Given the description of an element on the screen output the (x, y) to click on. 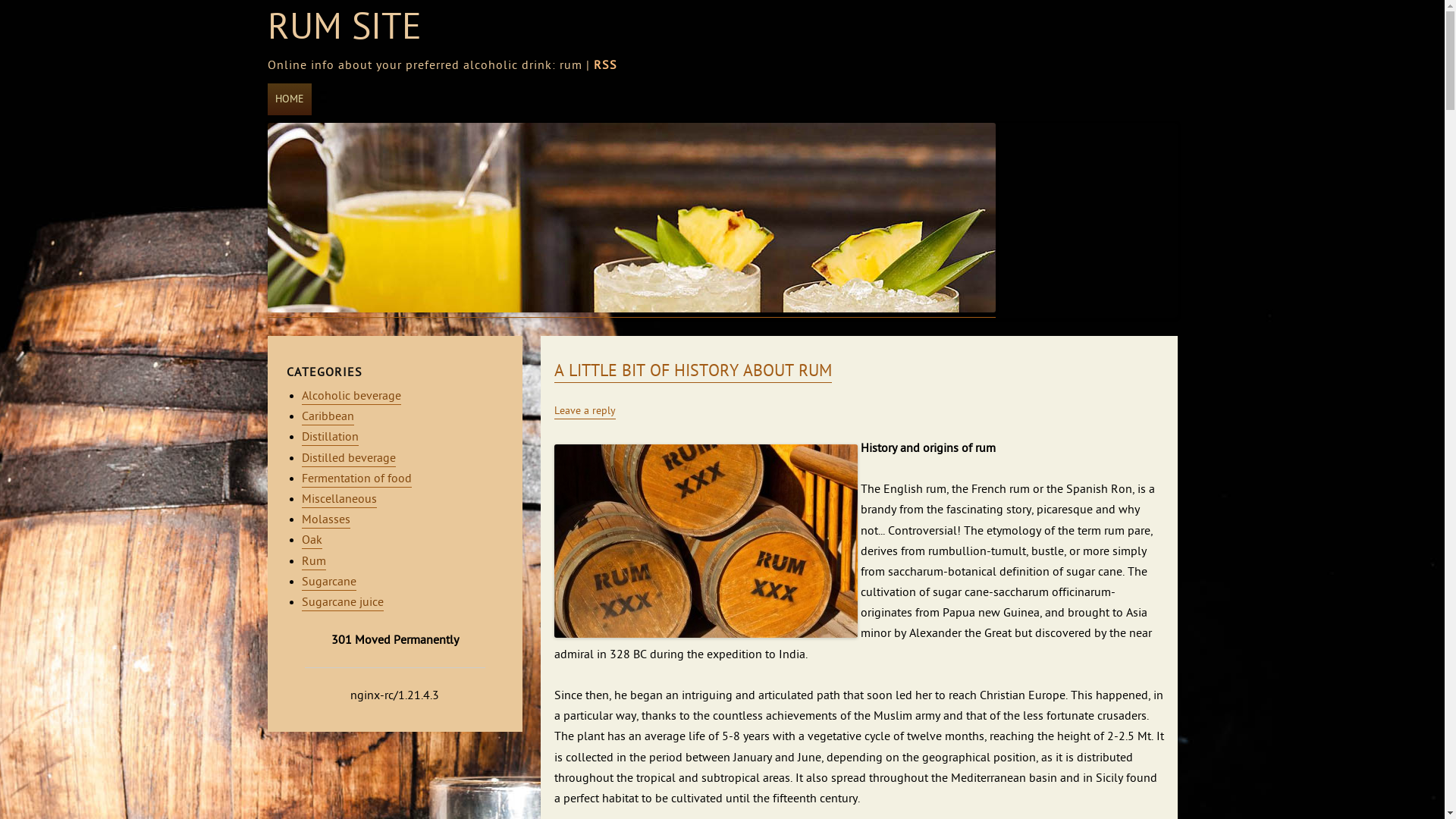
Sugarcane juice Element type: text (342, 603)
Oak Element type: text (311, 541)
Distillation Element type: text (329, 437)
Rum Element type: text (313, 561)
Sugarcane Element type: text (328, 582)
Molasses Element type: text (325, 520)
A LITTLE BIT OF HISTORY ABOUT RUM Element type: text (692, 371)
Distilled beverage Element type: text (348, 459)
RSS Element type: text (604, 65)
Leave a reply Element type: text (584, 411)
RUM SITE Element type: text (343, 28)
Caribbean Element type: text (327, 417)
Alcoholic beverage Element type: text (351, 396)
Skip to content Element type: text (318, 85)
Miscellaneous Element type: text (338, 500)
HOME Element type: text (288, 99)
Fermentation of food Element type: text (356, 479)
